Given the description of an element on the screen output the (x, y) to click on. 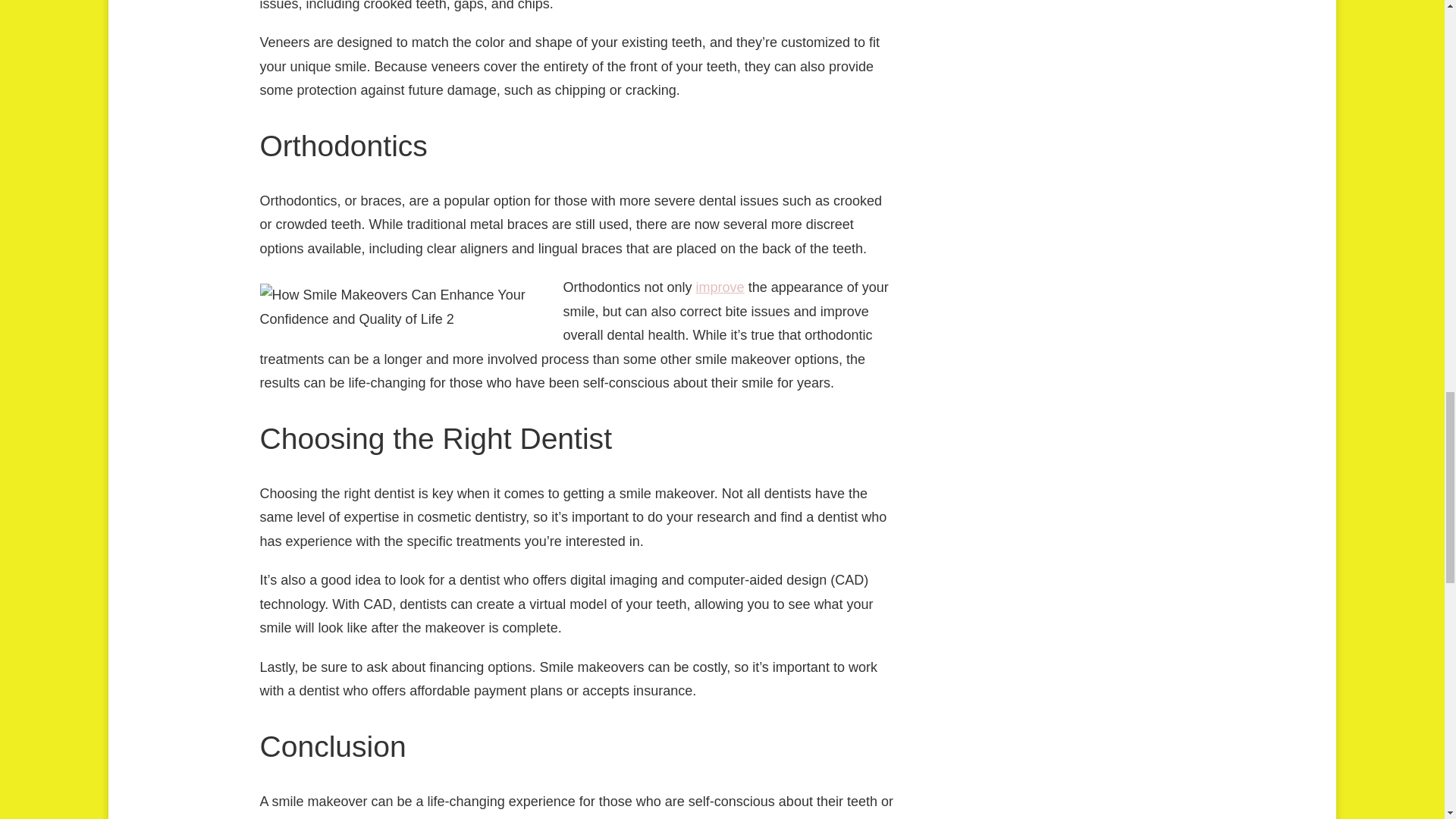
improve (719, 287)
